Given the description of an element on the screen output the (x, y) to click on. 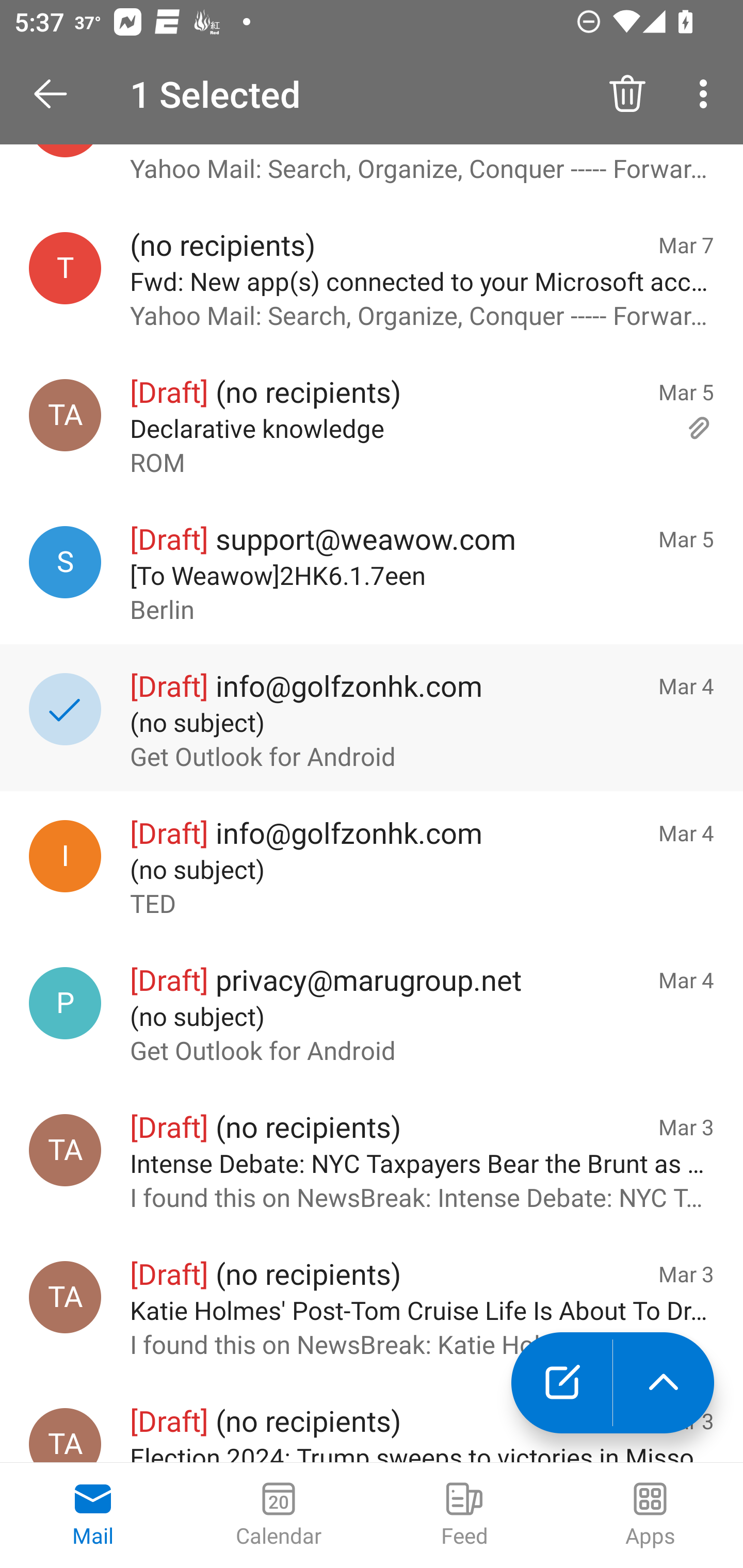
Delete (626, 93)
More options (706, 93)
Open Navigation Drawer (57, 94)
testappium002@outlook.com (64, 268)
Test Appium, testappium002@outlook.com (64, 415)
support@weawow.com (64, 562)
info@golfzonhk.com (64, 856)
privacy@marugroup.net (64, 1003)
Test Appium, testappium002@outlook.com (64, 1150)
Test Appium, testappium002@outlook.com (64, 1296)
New mail (561, 1382)
launch the extended action menu (663, 1382)
Test Appium, testappium002@outlook.com (64, 1435)
Calendar (278, 1515)
Feed (464, 1515)
Apps (650, 1515)
